Given the description of an element on the screen output the (x, y) to click on. 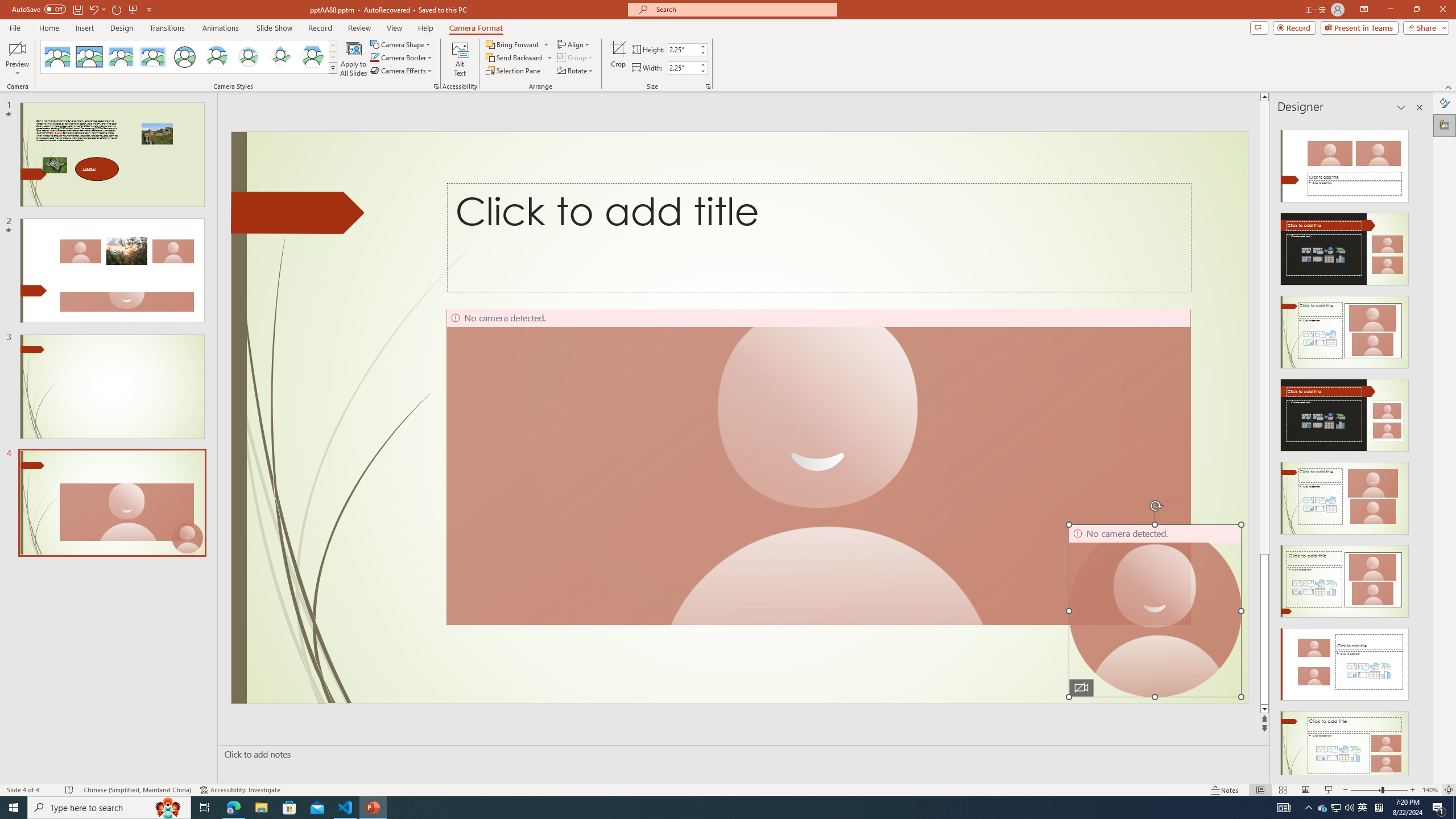
Camera 3, No camera detected. (818, 466)
Format Background (1444, 102)
No Style (57, 56)
Center Shadow Circle (216, 56)
